Given the description of an element on the screen output the (x, y) to click on. 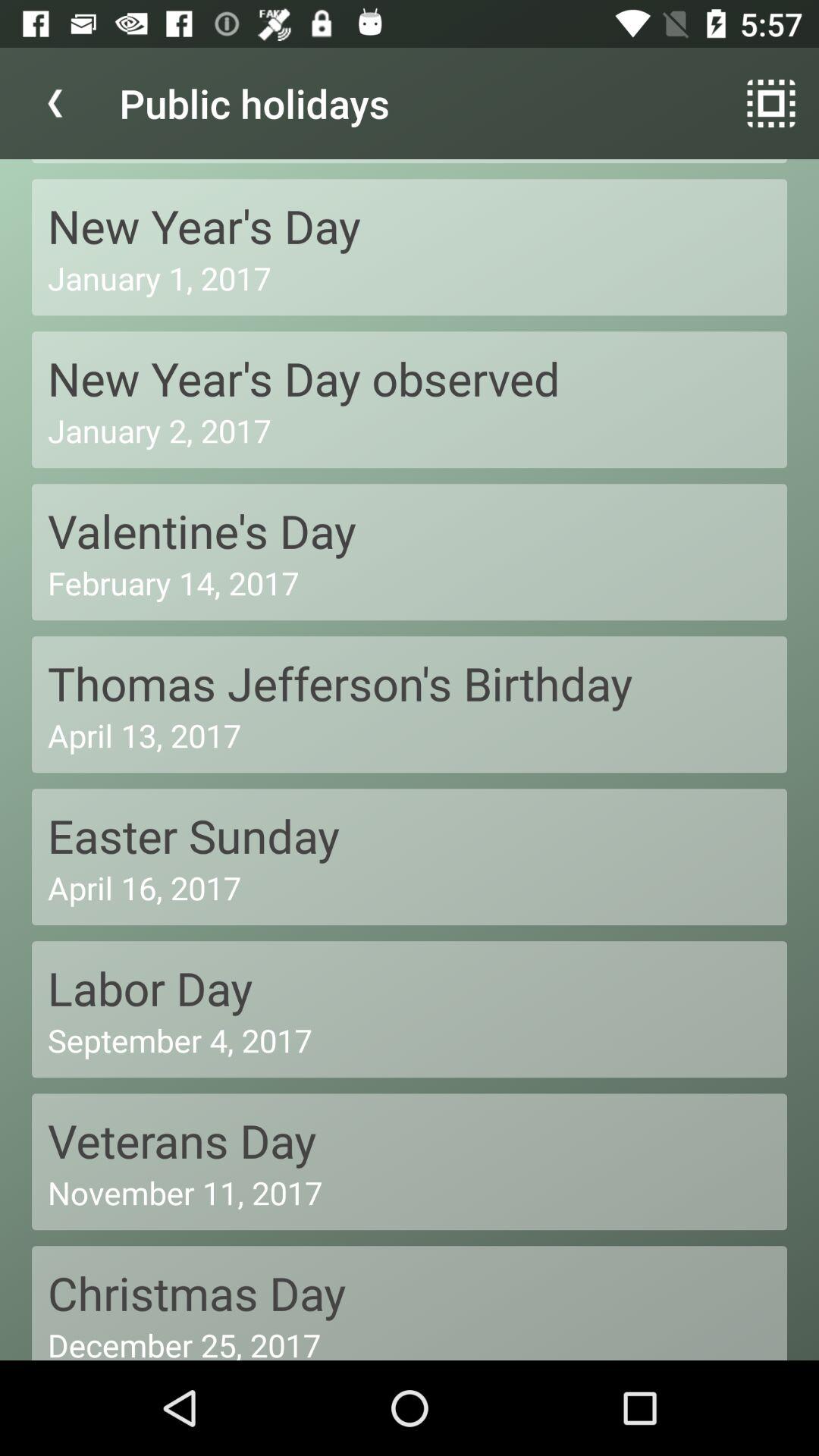
turn on icon below the christmas day icon (409, 1341)
